Given the description of an element on the screen output the (x, y) to click on. 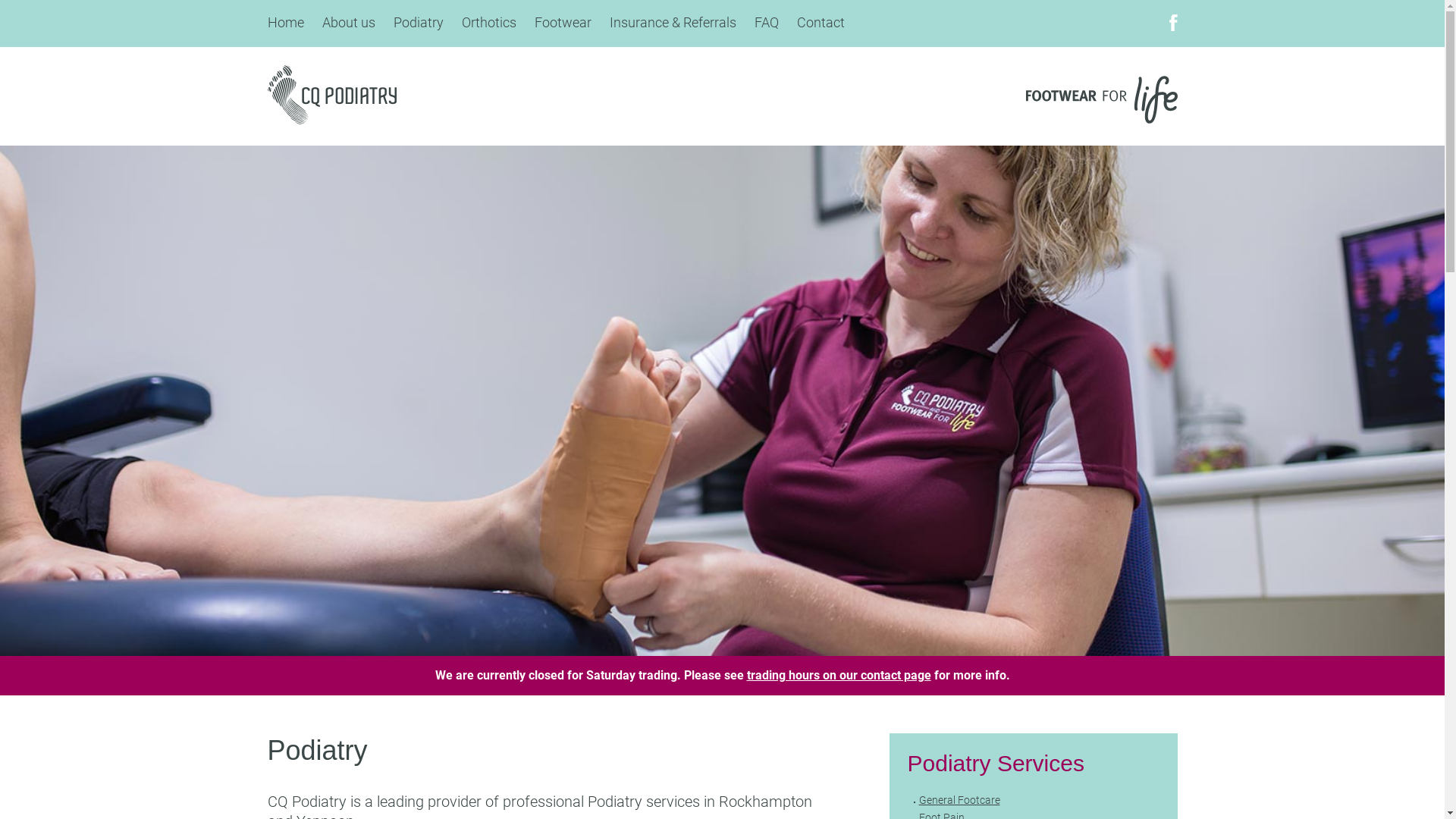
Orthotics Element type: text (487, 23)
About us Element type: text (347, 23)
Footwear Element type: text (561, 23)
trading hours on our contact page Element type: text (838, 675)
Insurance & Referrals Element type: text (672, 23)
General Footcare Element type: text (959, 799)
Podiatry Element type: text (417, 23)
Contact Element type: text (820, 23)
FAQ Element type: text (765, 23)
Home Element type: text (284, 23)
